Given the description of an element on the screen output the (x, y) to click on. 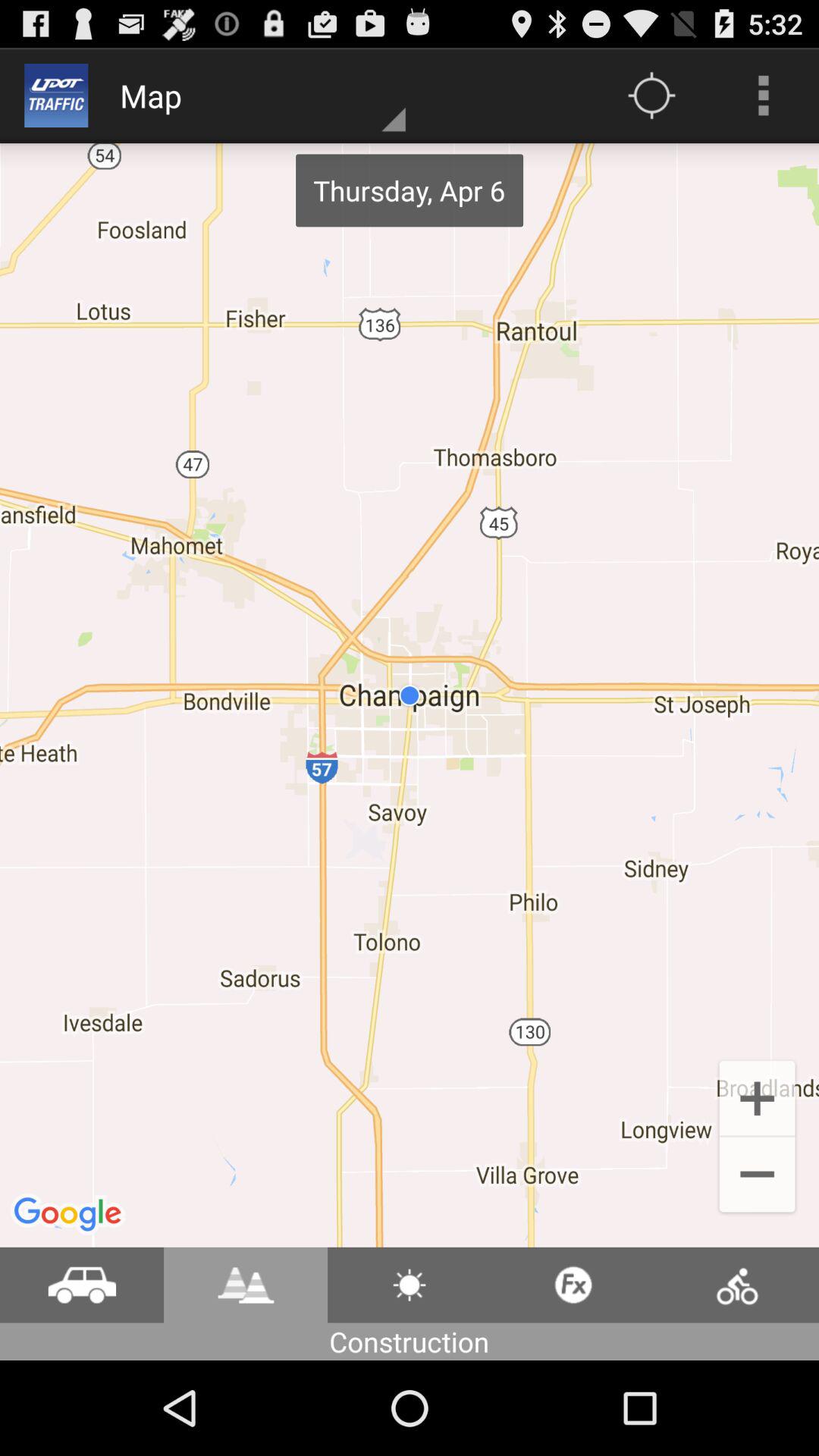
click google (69, 1214)
select thursday apr 6 (409, 190)
select zoom in button (757, 1097)
click on the icon which says fx (573, 1285)
click the icon beside the car icon (245, 1285)
select the icon which just above the construction (409, 1285)
